Given the description of an element on the screen output the (x, y) to click on. 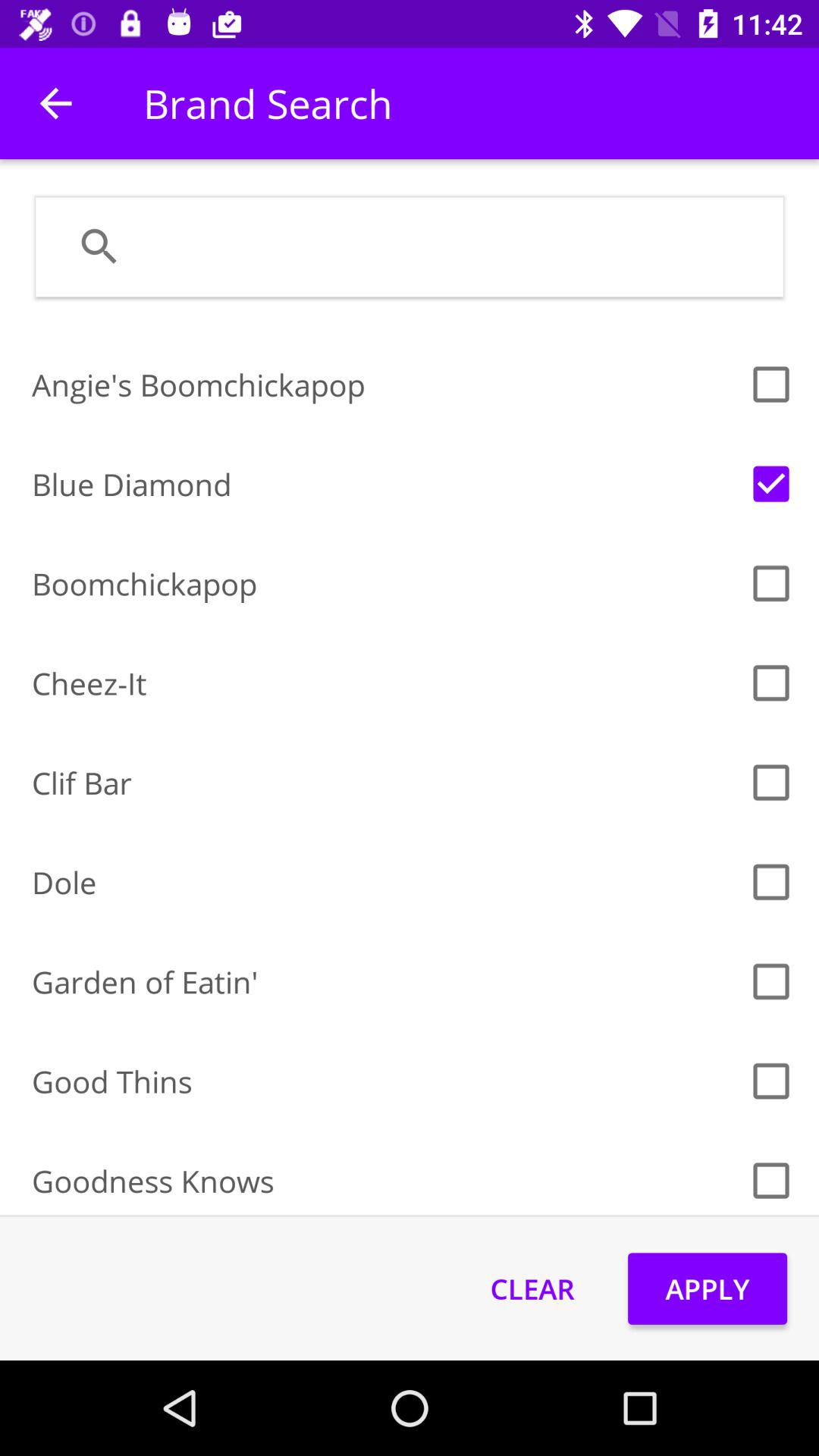
press the good thins (385, 1081)
